Given the description of an element on the screen output the (x, y) to click on. 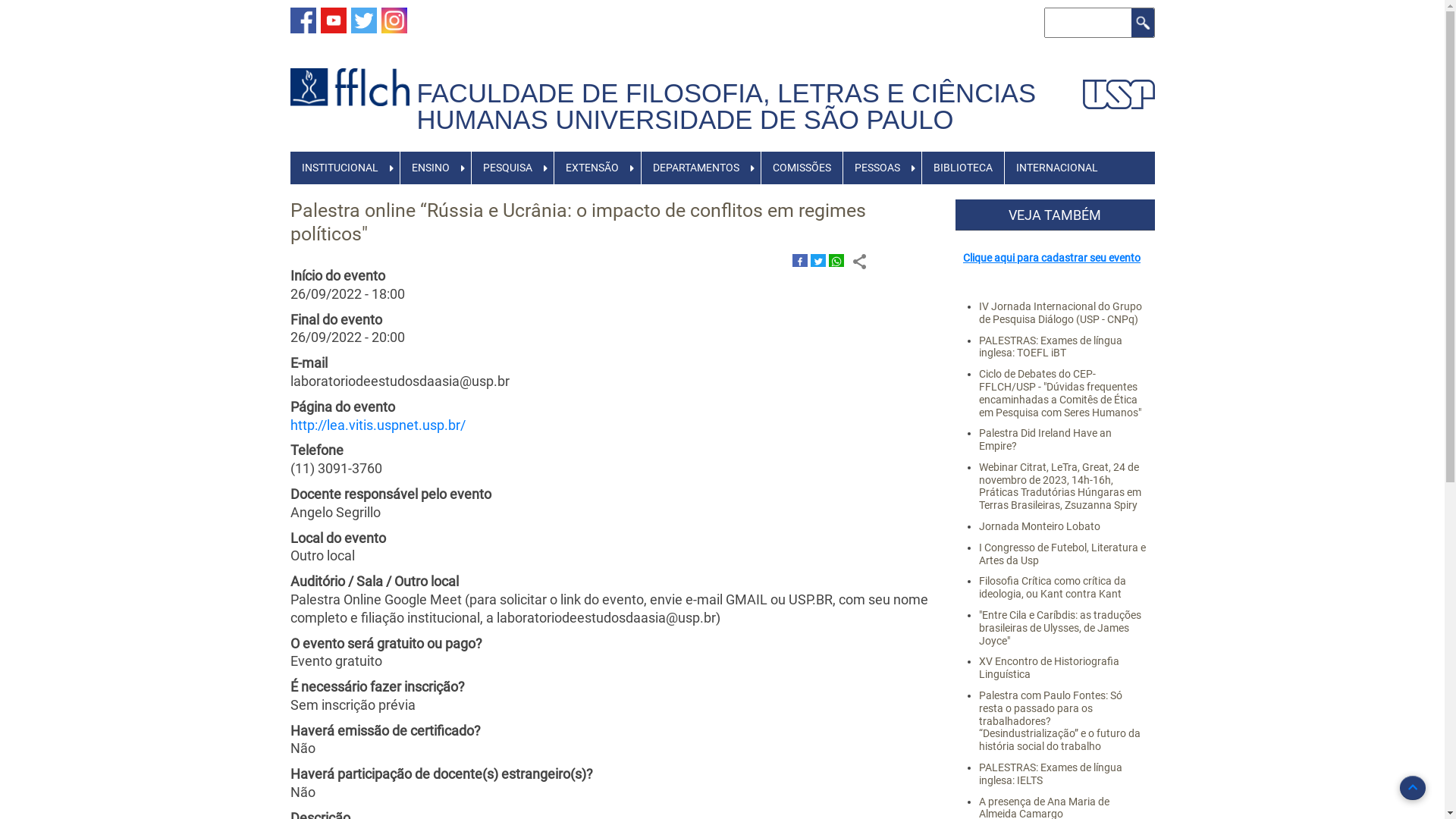
I Congresso de Futebol, Literatura e Artes da Usp Element type: text (1062, 553)
Share on Twitter Element type: hover (817, 261)
INSTITUCIONAL Element type: text (339, 168)
Share via WhatsApp Element type: hover (836, 261)
Buscar Element type: text (1142, 22)
Back to Top Element type: hover (1412, 787)
http://lea.vitis.uspnet.usp.br/ Element type: text (376, 425)
ENSINO Element type: text (430, 168)
Jornada Monteiro Lobato Element type: text (1039, 526)
Palestra Did Ireland Have an Empire? Element type: text (1045, 438)
  Element type: text (420, 73)
DEPARTAMENTOS Element type: text (695, 168)
Clique aqui para cadastrar seu evento Element type: text (1051, 257)
INTERNACIONAL Element type: text (1056, 168)
Share on Facebook Element type: hover (799, 261)
BIBLIOTECA Element type: text (963, 168)
PESQUISA Element type: text (507, 168)
PESSOAS Element type: text (877, 168)
